Given the description of an element on the screen output the (x, y) to click on. 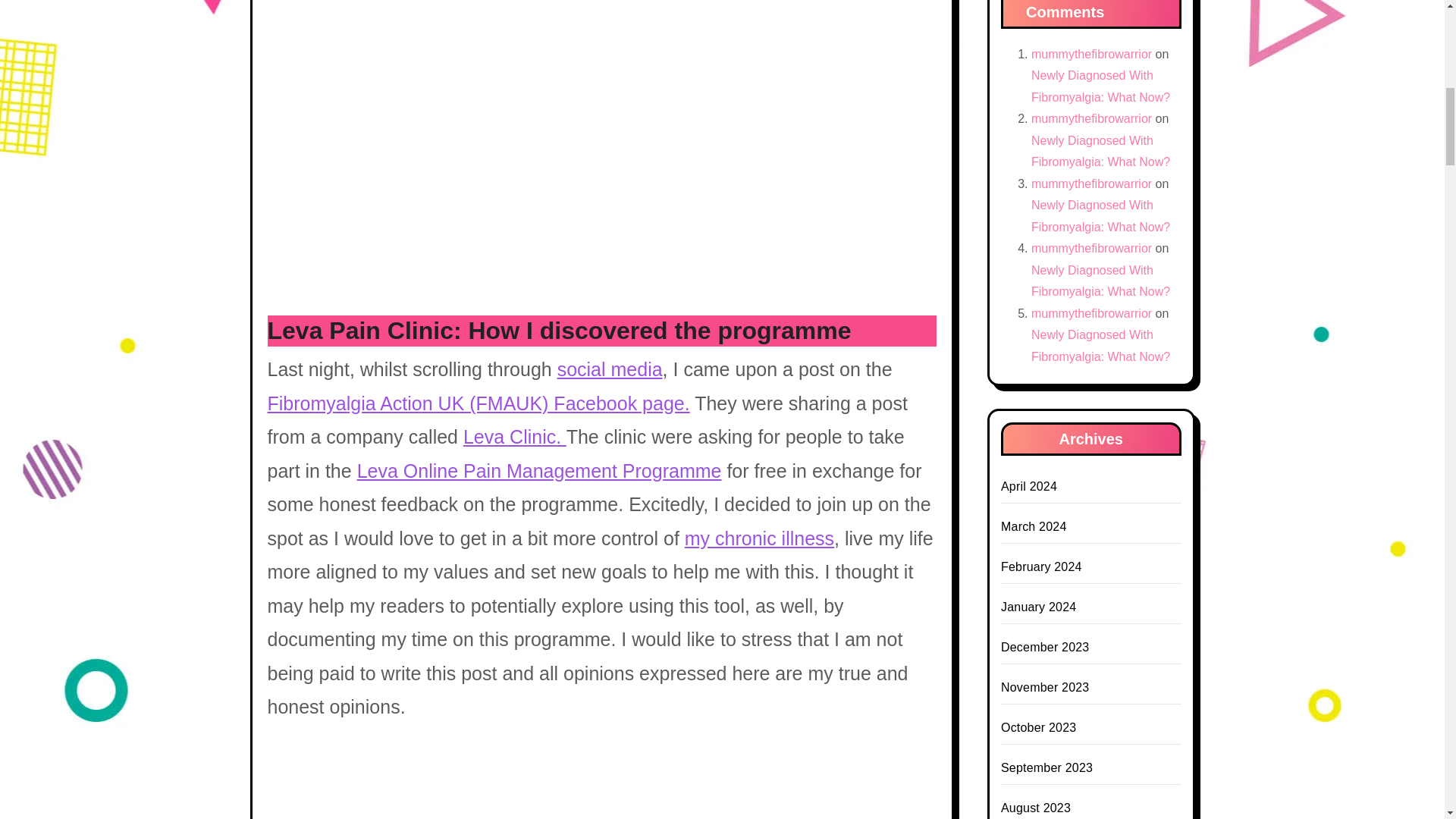
Who is Mummy the Fibro Warrior? (759, 537)
Leva Clinic. (514, 436)
Leva Online Pain Management Programme (539, 470)
Is social media a gift or a curse? (609, 369)
my chronic illness (759, 537)
Leva Clinic.  (514, 436)
Leva Online Pain Management Programme (539, 470)
social media (609, 369)
